Given the description of an element on the screen output the (x, y) to click on. 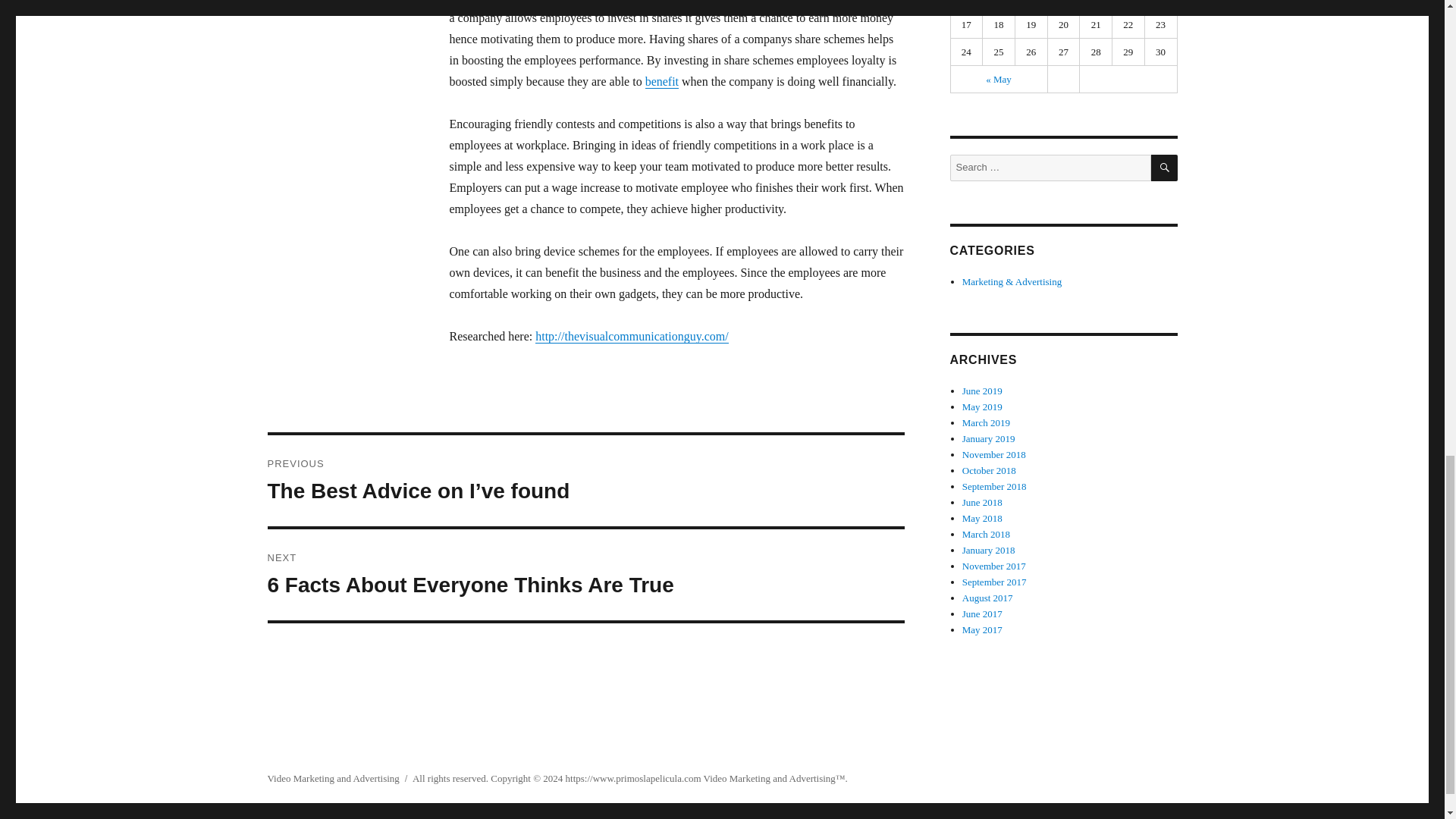
September 2017 (994, 582)
May 2019 (982, 406)
June 2018 (982, 501)
March 2019 (986, 422)
Video Marketing and Advertising (769, 778)
June 2017 (982, 613)
May 2018 (982, 518)
June 2019 (982, 390)
September 2018 (994, 486)
March 2018 (986, 533)
October 2018 (989, 470)
January 2018 (988, 550)
Video Marketing and Advertising (332, 778)
November 2018 (994, 454)
November 2017 (994, 565)
